Given the description of an element on the screen output the (x, y) to click on. 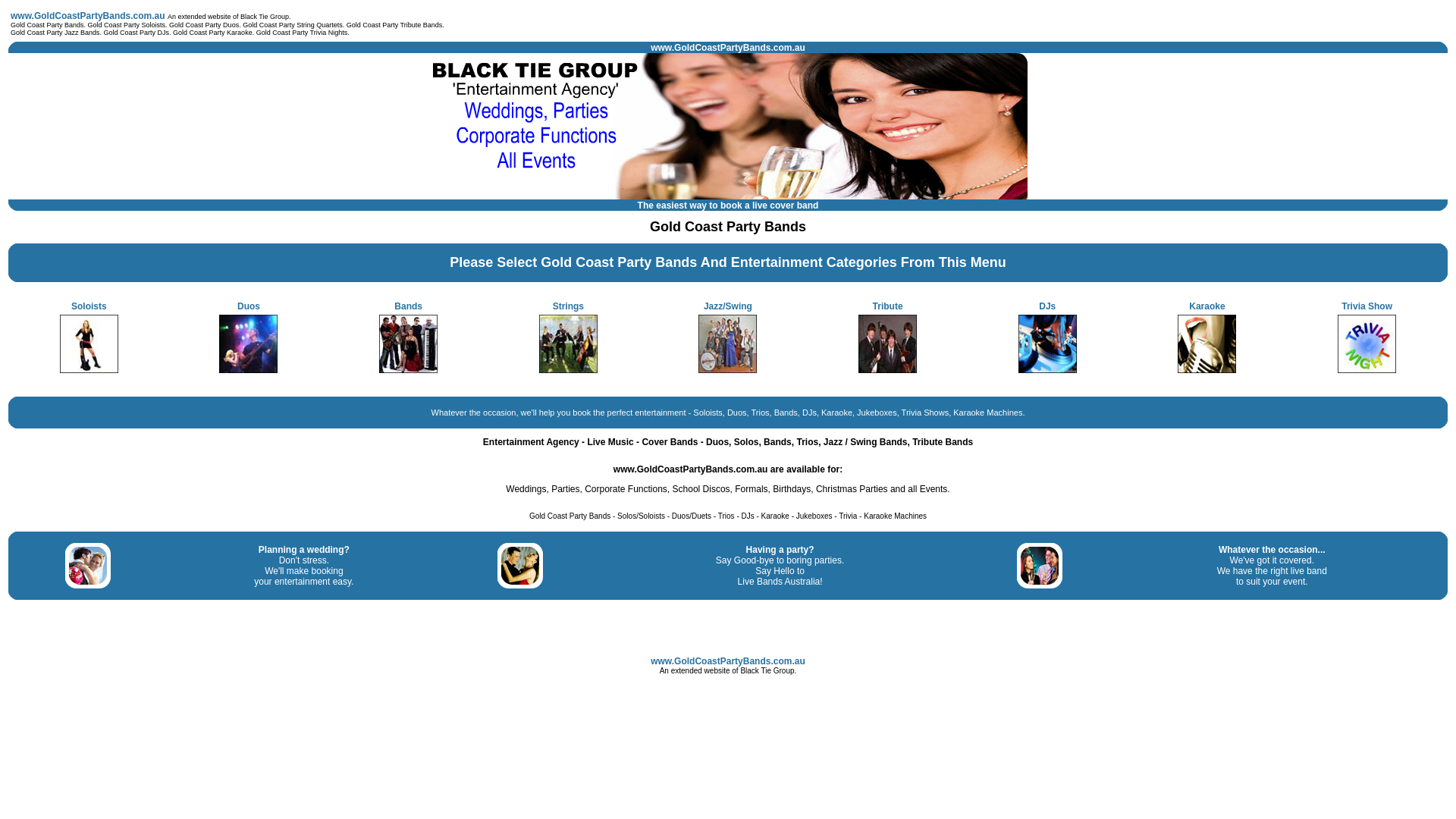
Jazz/Swing Element type: text (727, 306)
Tribute Element type: text (887, 306)
DJs Element type: text (1046, 306)
Soloists Element type: text (88, 306)
Karaoke Element type: text (1206, 306)
Bands Element type: text (408, 306)
Trivia Show Element type: text (1366, 306)
Duos Element type: text (248, 306)
Strings Element type: text (567, 306)
